Given the description of an element on the screen output the (x, y) to click on. 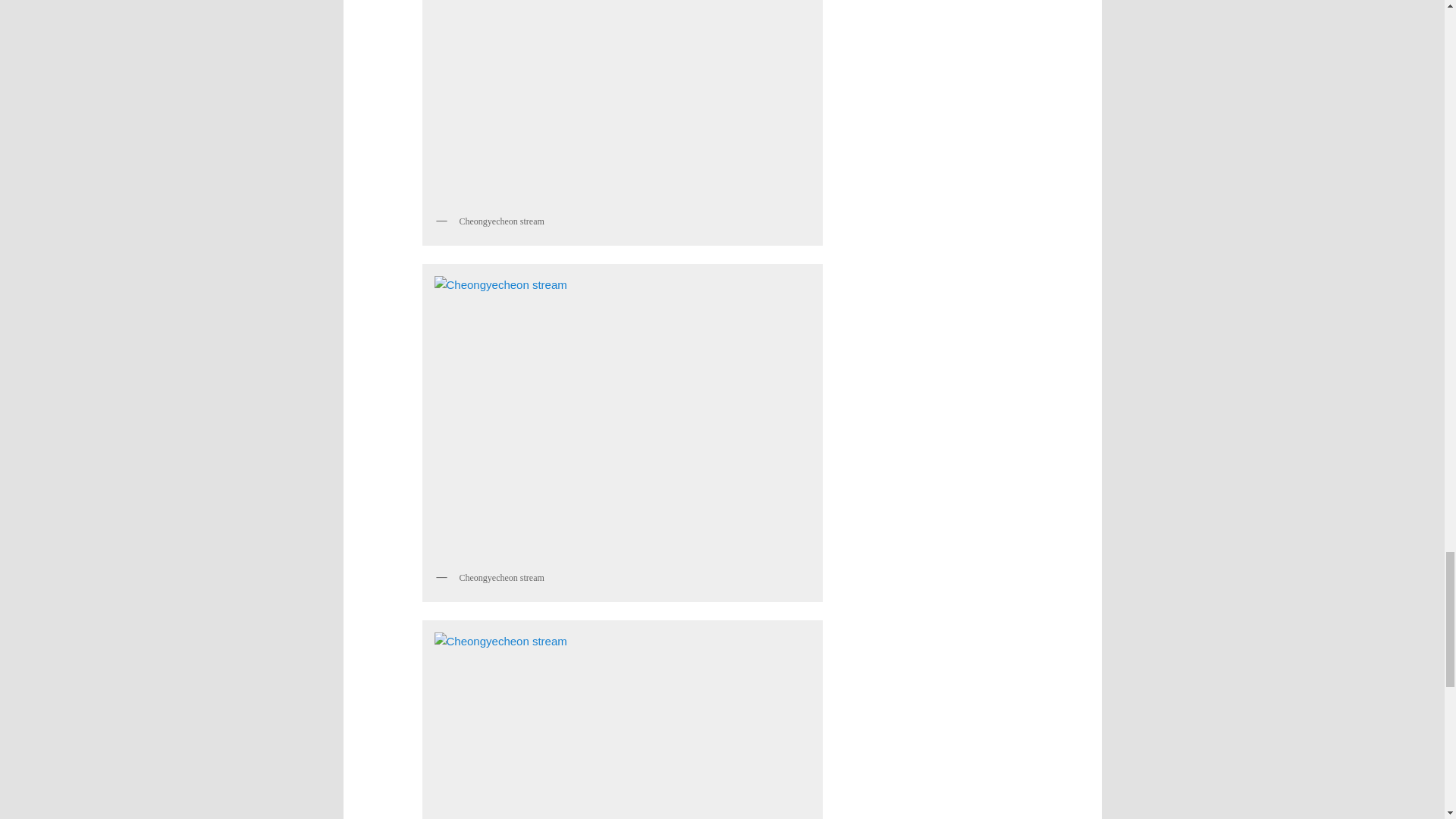
P1160540 (622, 723)
P1160617 (622, 103)
P1170219 (622, 417)
